Given the description of an element on the screen output the (x, y) to click on. 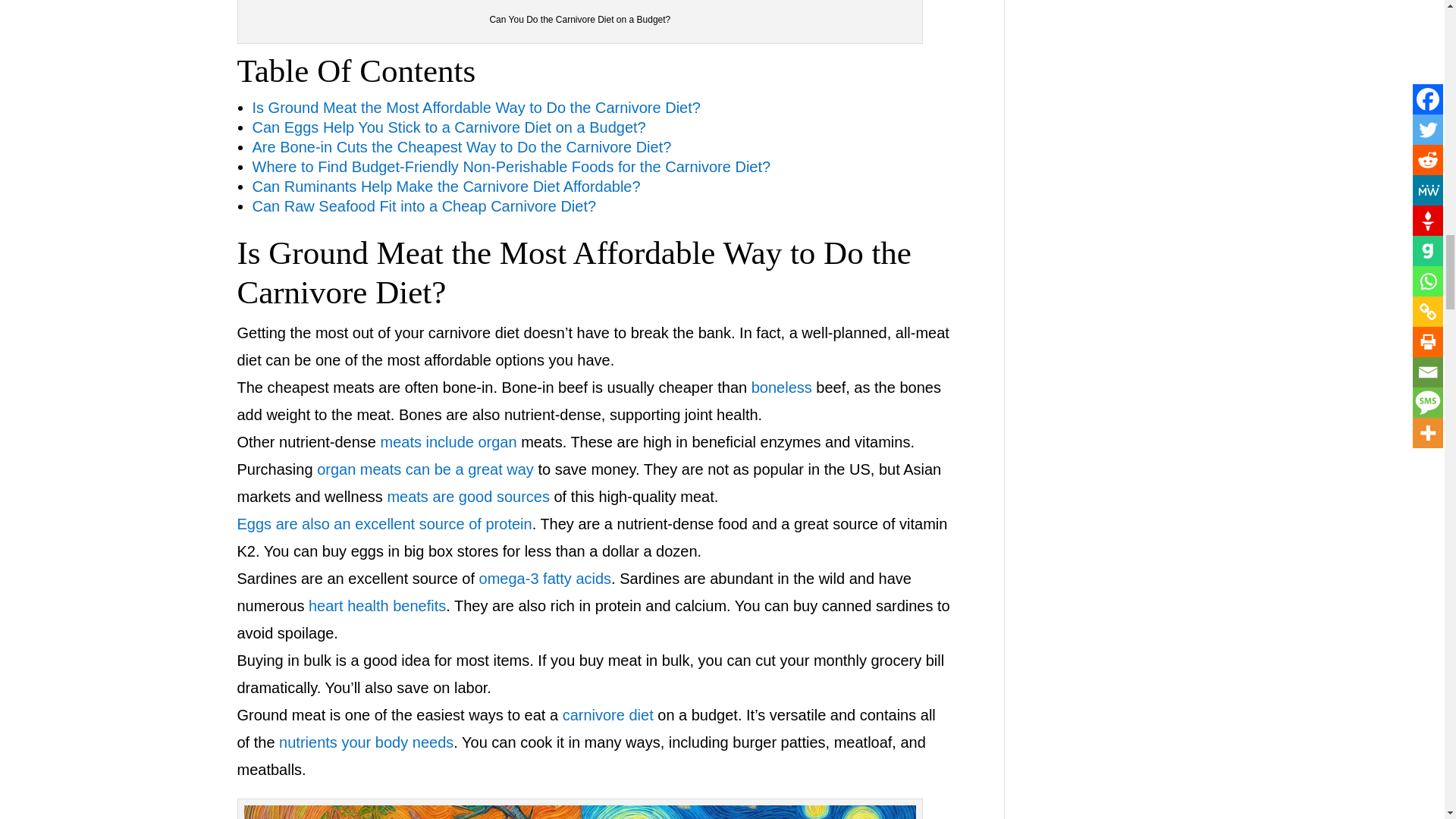
boneless (781, 387)
Are Bone-in Cuts the Cheapest Way to Do the Carnivore Diet? (461, 146)
meats include organ (448, 442)
Can Raw Seafood Fit into a Cheap Carnivore Diet? (423, 206)
Can Eggs Help You Stick to a Carnivore Diet on a Budget? (448, 126)
Can Ruminants Help Make the Carnivore Diet Affordable? (445, 186)
